Given the description of an element on the screen output the (x, y) to click on. 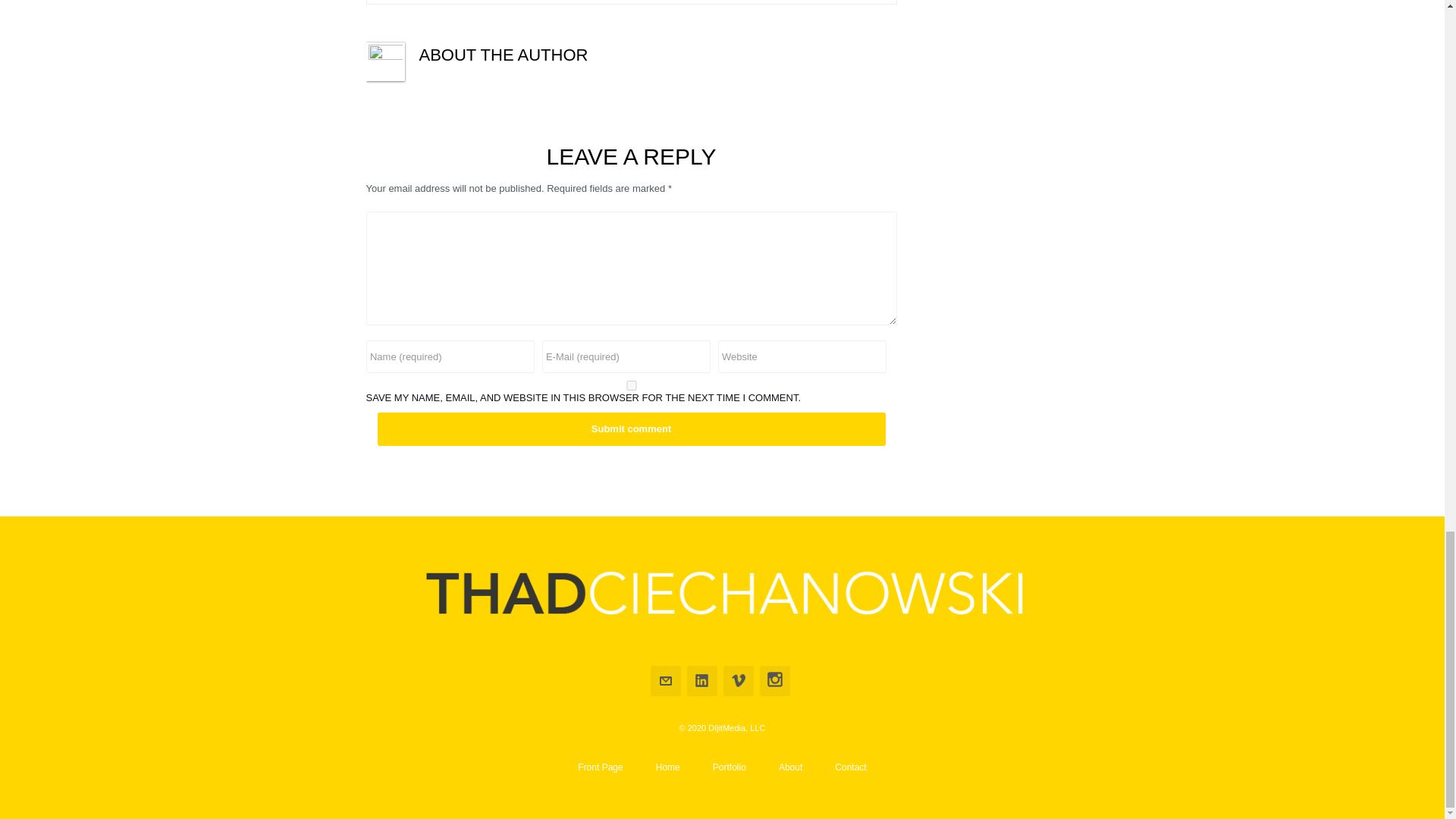
About (790, 767)
Vimeo (738, 680)
Linkedin (702, 680)
Website (801, 356)
Email (665, 680)
Instagram (775, 680)
Vimeo (738, 680)
Contact (850, 767)
yes (630, 385)
Front Page (600, 767)
